Given the description of an element on the screen output the (x, y) to click on. 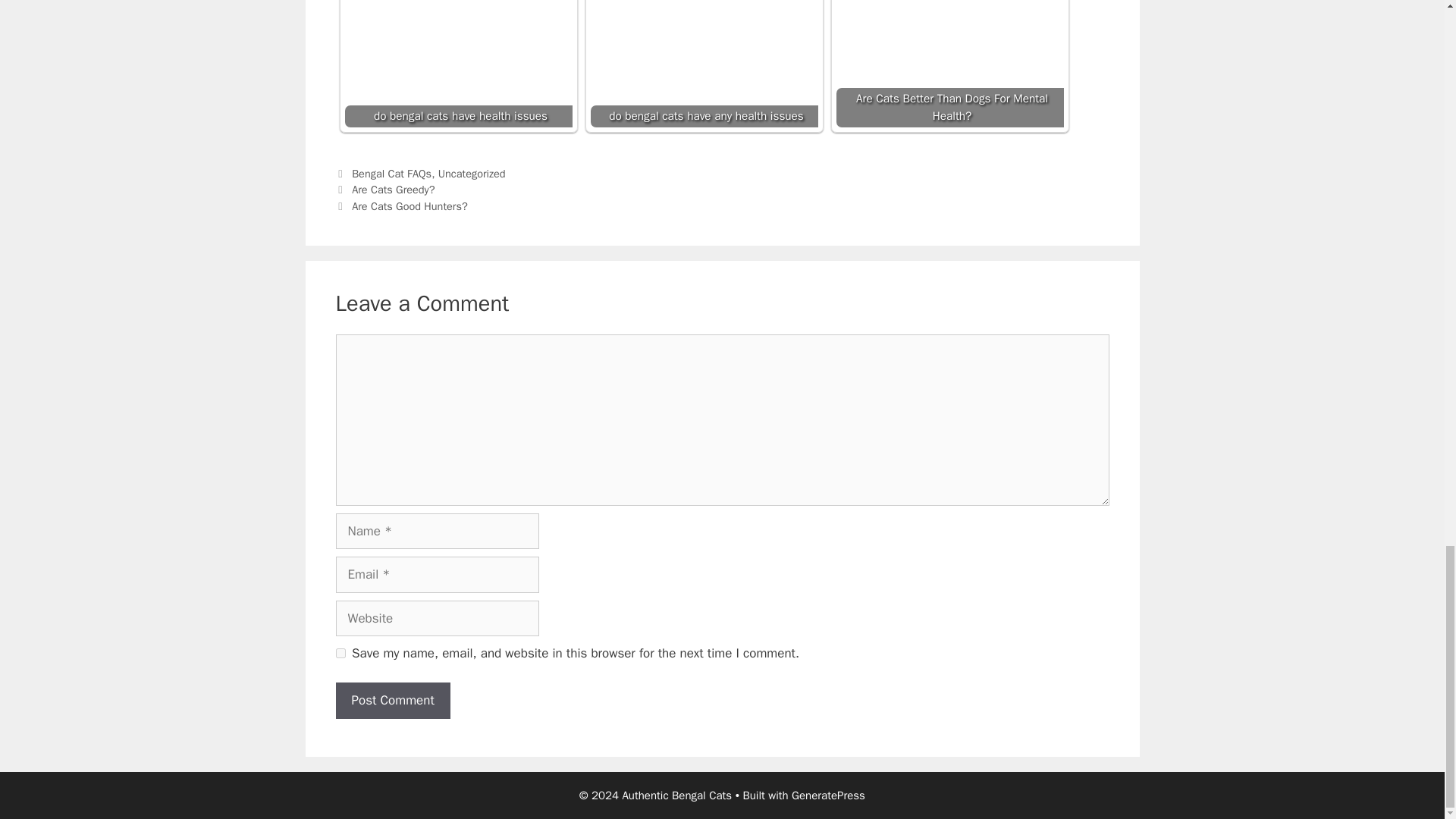
Uncategorized (471, 173)
yes (339, 653)
do bengal cats have health issues (457, 63)
Post Comment (391, 700)
do bengal cats have any health issues (702, 63)
Are Cats Better Than Dogs For Mental Health? (948, 63)
Bengal Cat FAQs (391, 173)
Post Comment (391, 700)
GeneratePress (828, 795)
Are Cats Good Hunters? (409, 205)
Are Cats Greedy? (392, 189)
